Given the description of an element on the screen output the (x, y) to click on. 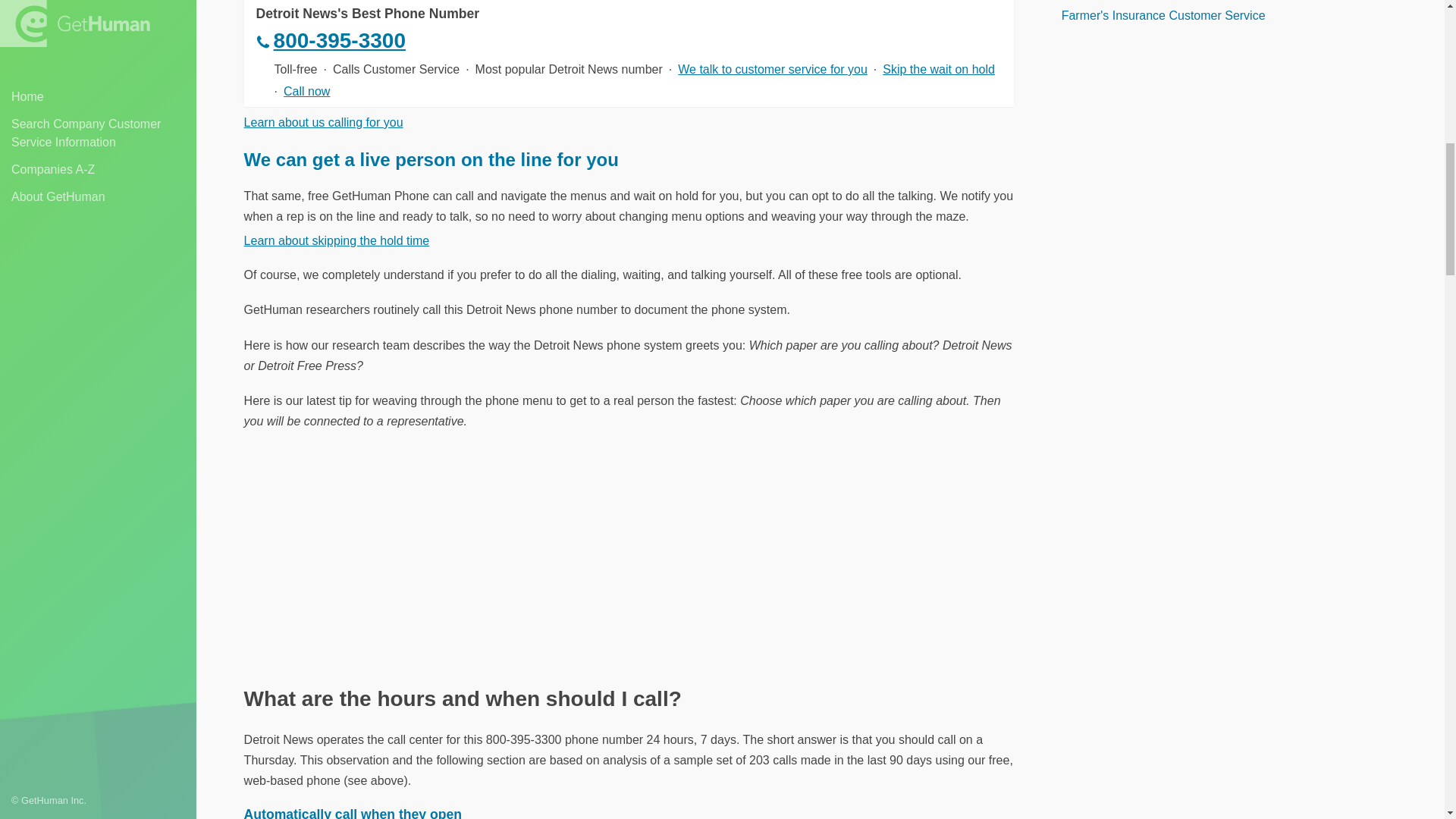
We can get a live person on the line for you (431, 159)
Let us call and talk to Detroit News for you (427, 41)
Learn about skipping the hold time (336, 240)
Learn about us calling for you (323, 122)
Automatically call when they open (352, 812)
